Given the description of an element on the screen output the (x, y) to click on. 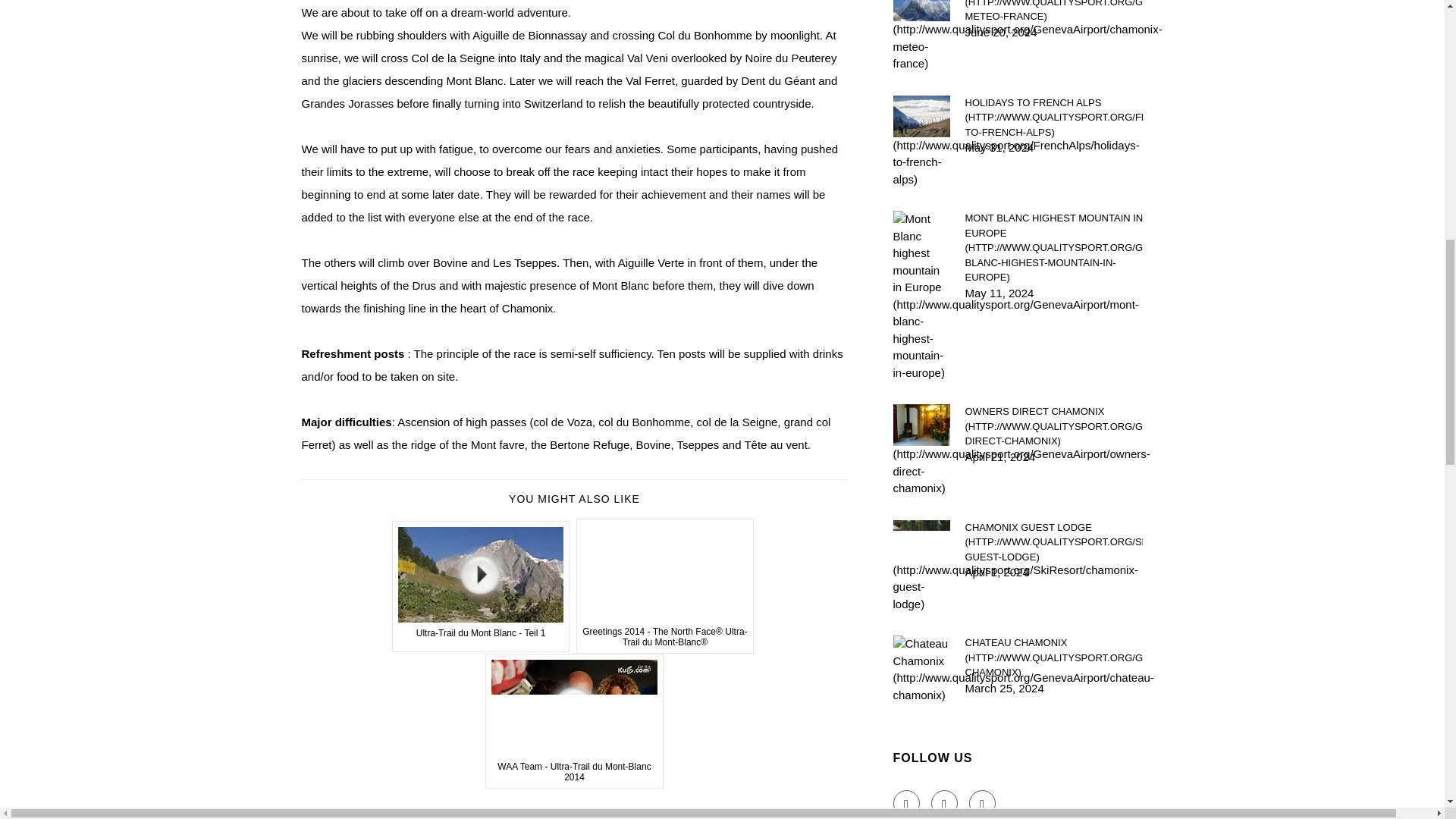
Video temporarily unavailable (480, 585)
View this video from ku6 (573, 720)
CHAMONIX GUEST LODGE (1052, 542)
CHAMONIX METEO FRANCE (1052, 12)
MONT BLANC HIGHEST MOUNTAIN IN EUROPE (1052, 247)
Facebook (906, 803)
OWNERS DIRECT CHAMONIX (1052, 426)
Twitter (944, 803)
CHATEAU CHAMONIX (1052, 657)
HOLIDAYS TO FRENCH ALPS (1052, 117)
